Given the description of an element on the screen output the (x, y) to click on. 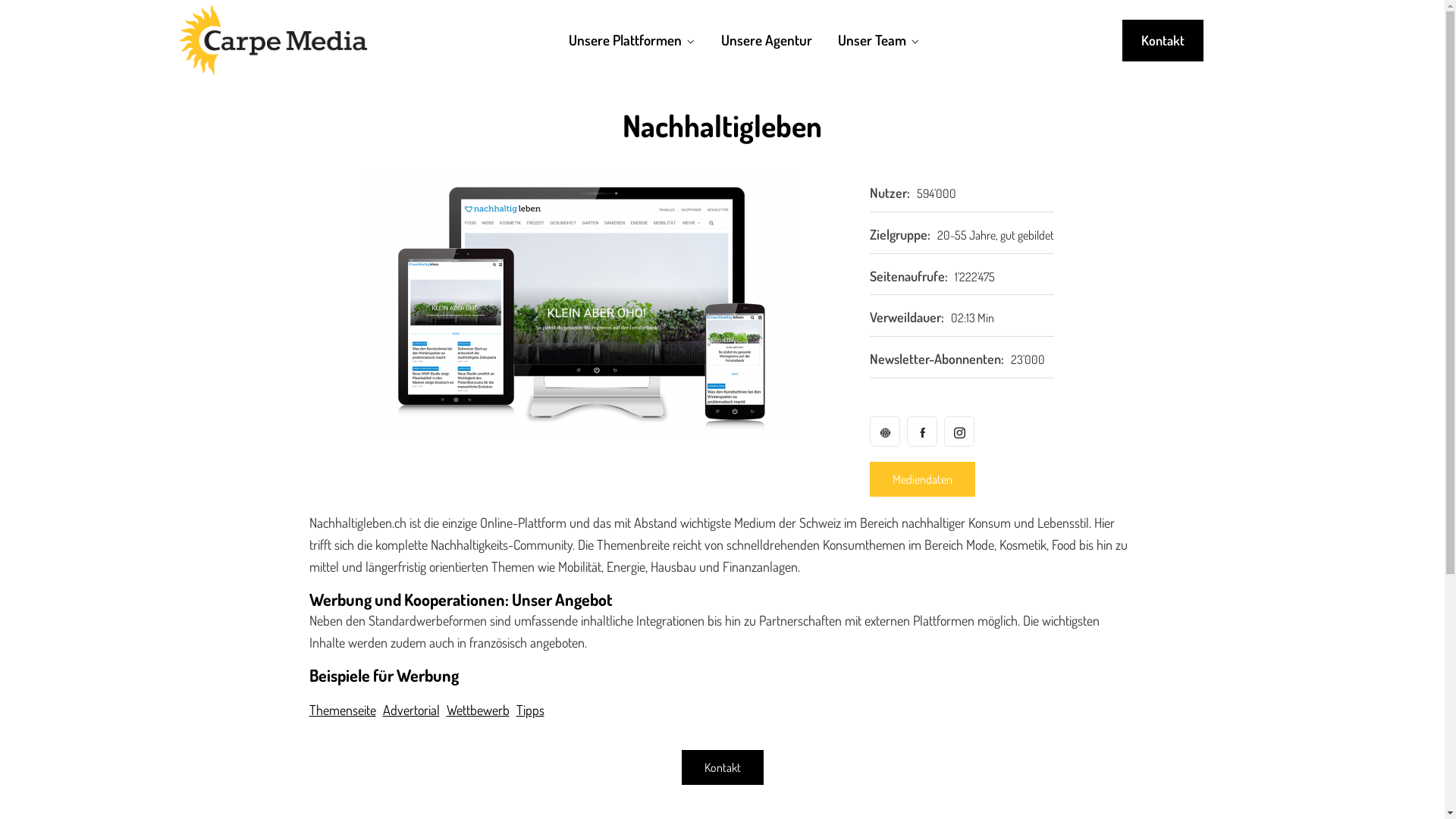
Tipps Element type: text (529, 710)
Themenseite Element type: text (342, 710)
Carpemedia.ch Element type: hover (272, 39)
Mediendaten Element type: text (922, 478)
Kontakt Element type: text (1162, 40)
Unser Team Element type: text (878, 39)
Kontakt Element type: text (721, 766)
Wettbewerb Element type: text (476, 710)
Advertorial Element type: text (410, 710)
Unsere Agentur Element type: text (766, 39)
Unsere Plattformen Element type: text (631, 39)
